Given the description of an element on the screen output the (x, y) to click on. 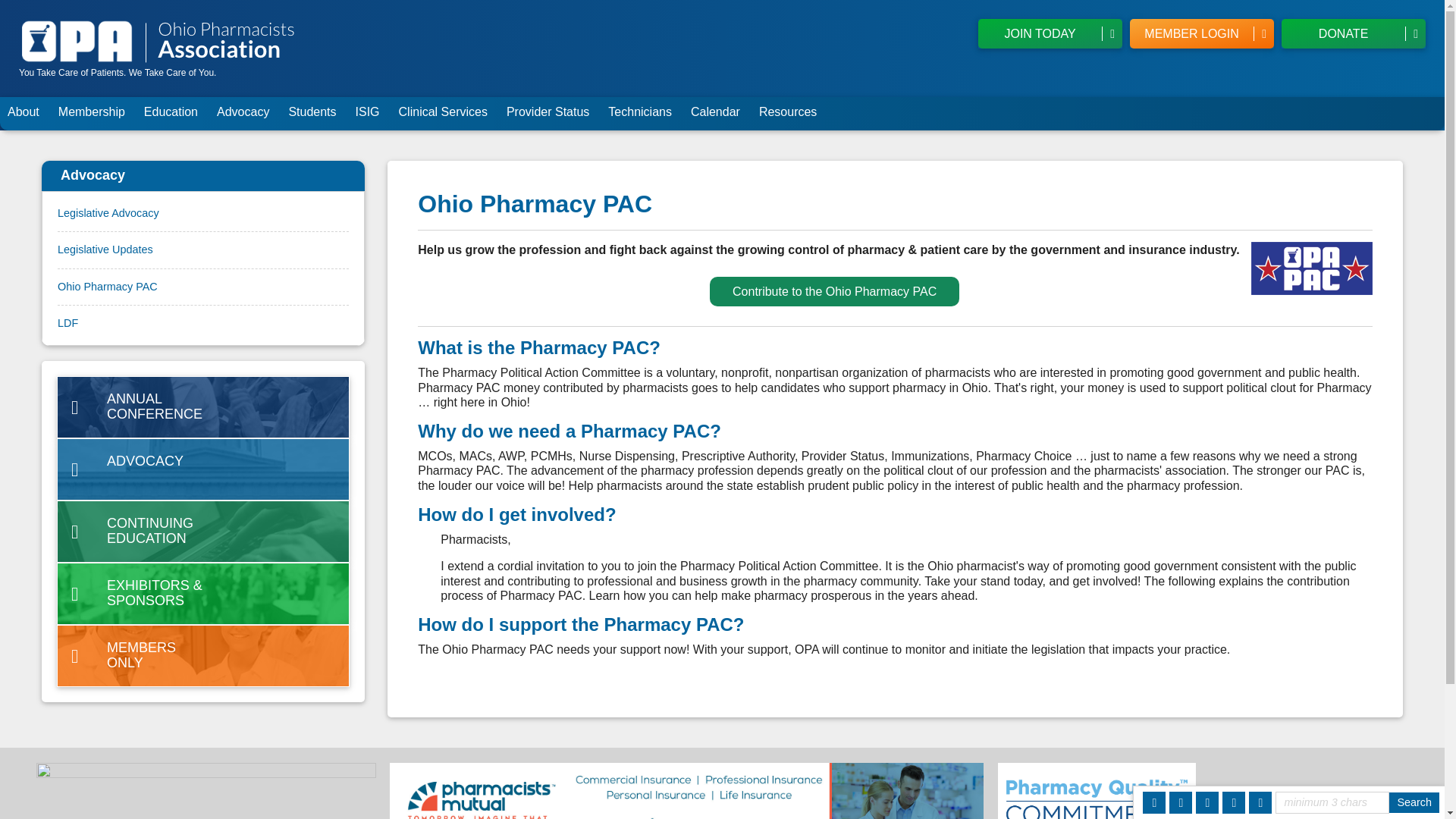
Search (1414, 802)
Search (1414, 802)
MEMBER LOGIN (1201, 33)
Search (1414, 802)
DONATE (1353, 33)
JOIN TODAY (1050, 33)
Membership (93, 113)
About (25, 113)
